Given the description of an element on the screen output the (x, y) to click on. 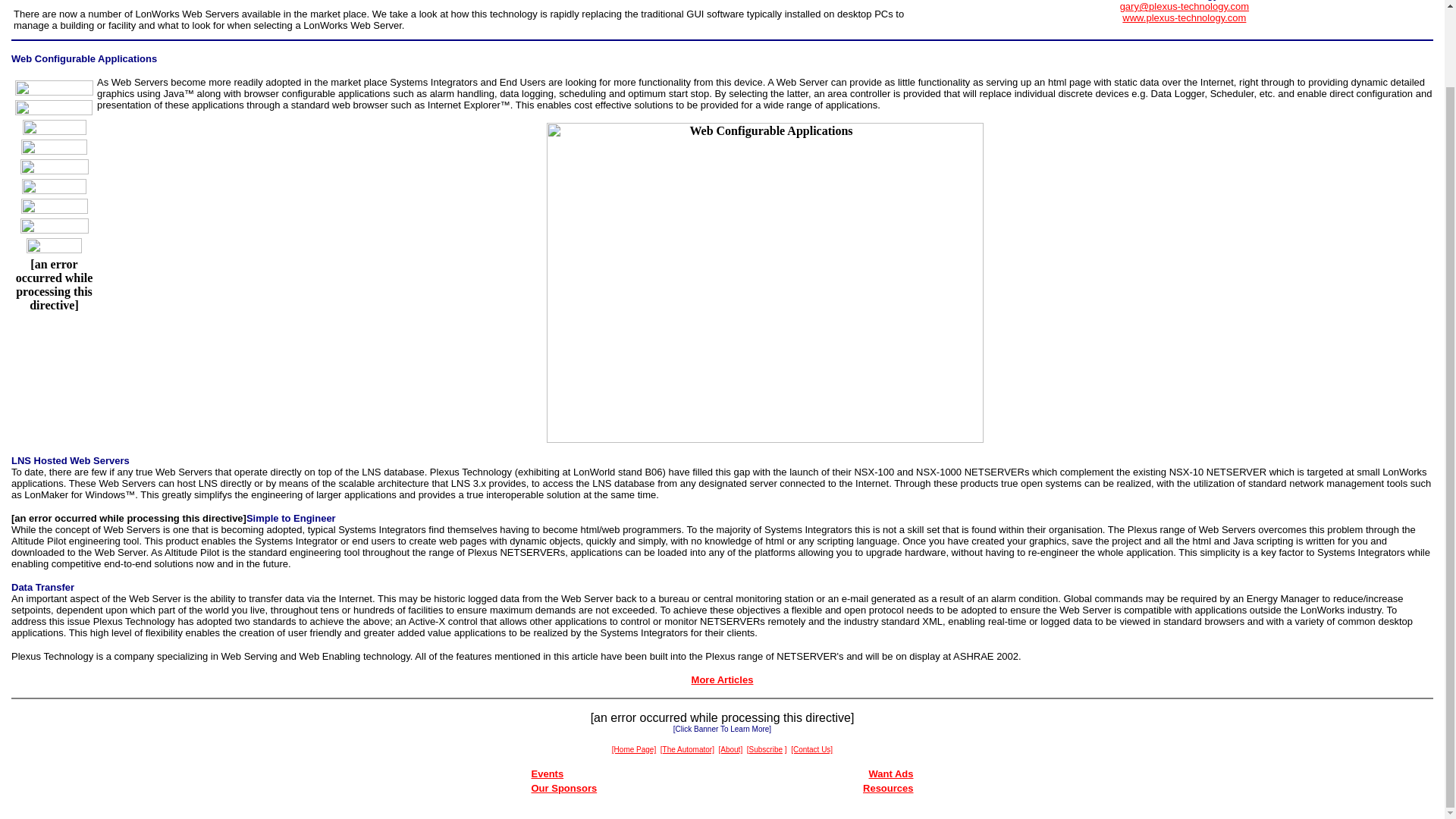
Our Sponsors (563, 787)
Subscribe (766, 748)
Events (547, 773)
Want Ads (891, 773)
www.plexus-technology.com (1184, 17)
More Articles (722, 679)
Resources (887, 787)
